Given the description of an element on the screen output the (x, y) to click on. 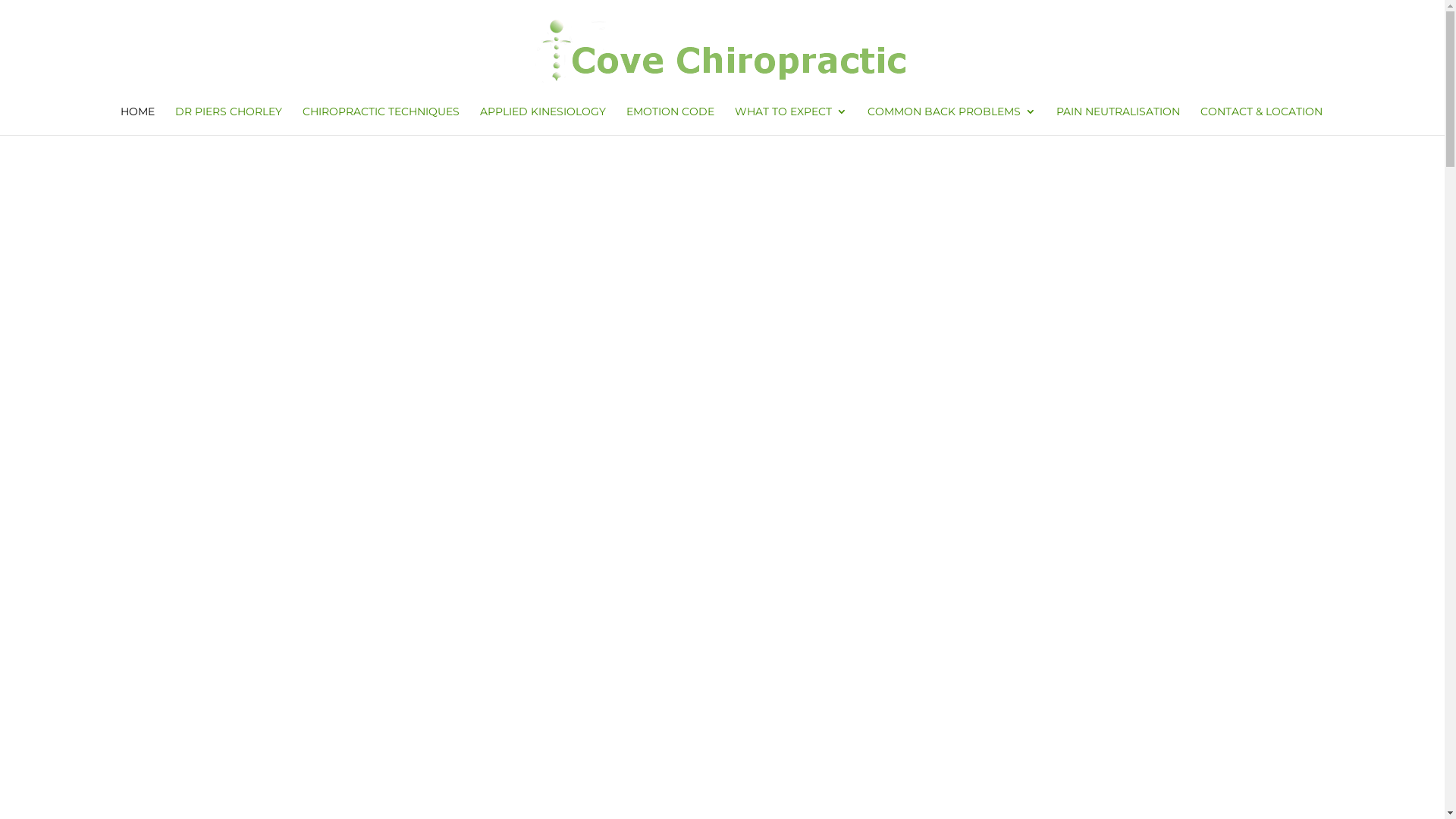
PAIN NEUTRALISATION Element type: text (1117, 120)
HOME Element type: text (137, 120)
WHAT TO EXPECT Element type: text (790, 120)
CONTACT & LOCATION Element type: text (1261, 120)
CHIROPRACTIC TECHNIQUES Element type: text (380, 120)
DR PIERS CHORLEY Element type: text (228, 120)
COMMON BACK PROBLEMS Element type: text (951, 120)
EMOTION CODE Element type: text (670, 120)
APPLIED KINESIOLOGY Element type: text (542, 120)
